Given the description of an element on the screen output the (x, y) to click on. 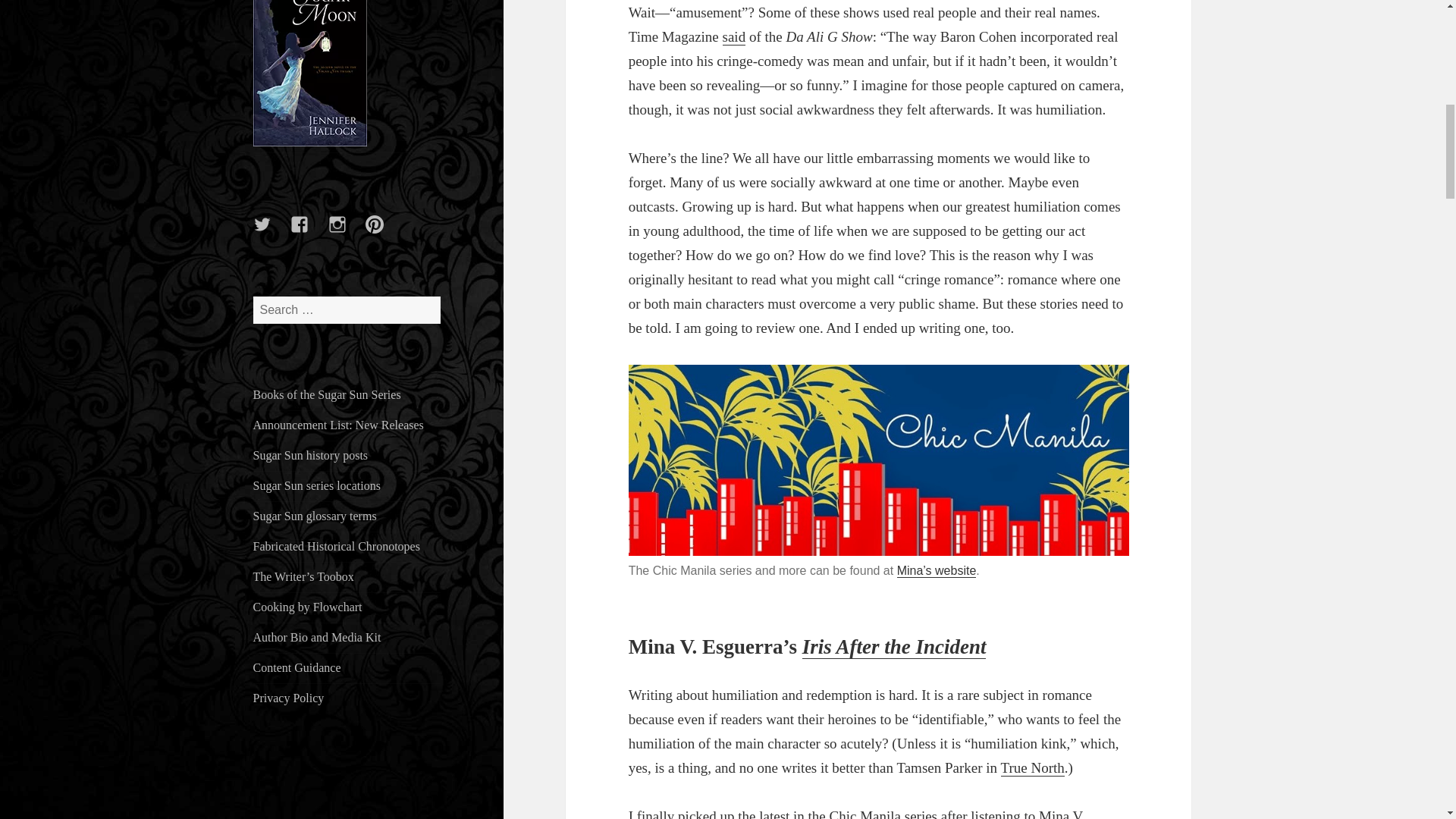
said (733, 36)
Cooking by Flowchart (307, 606)
Privacy Policy (288, 697)
Sugar Sun glossary terms (315, 515)
Iris After the Incident (894, 647)
Author Bio and Media Kit (317, 636)
Content Guidance (296, 667)
